Given the description of an element on the screen output the (x, y) to click on. 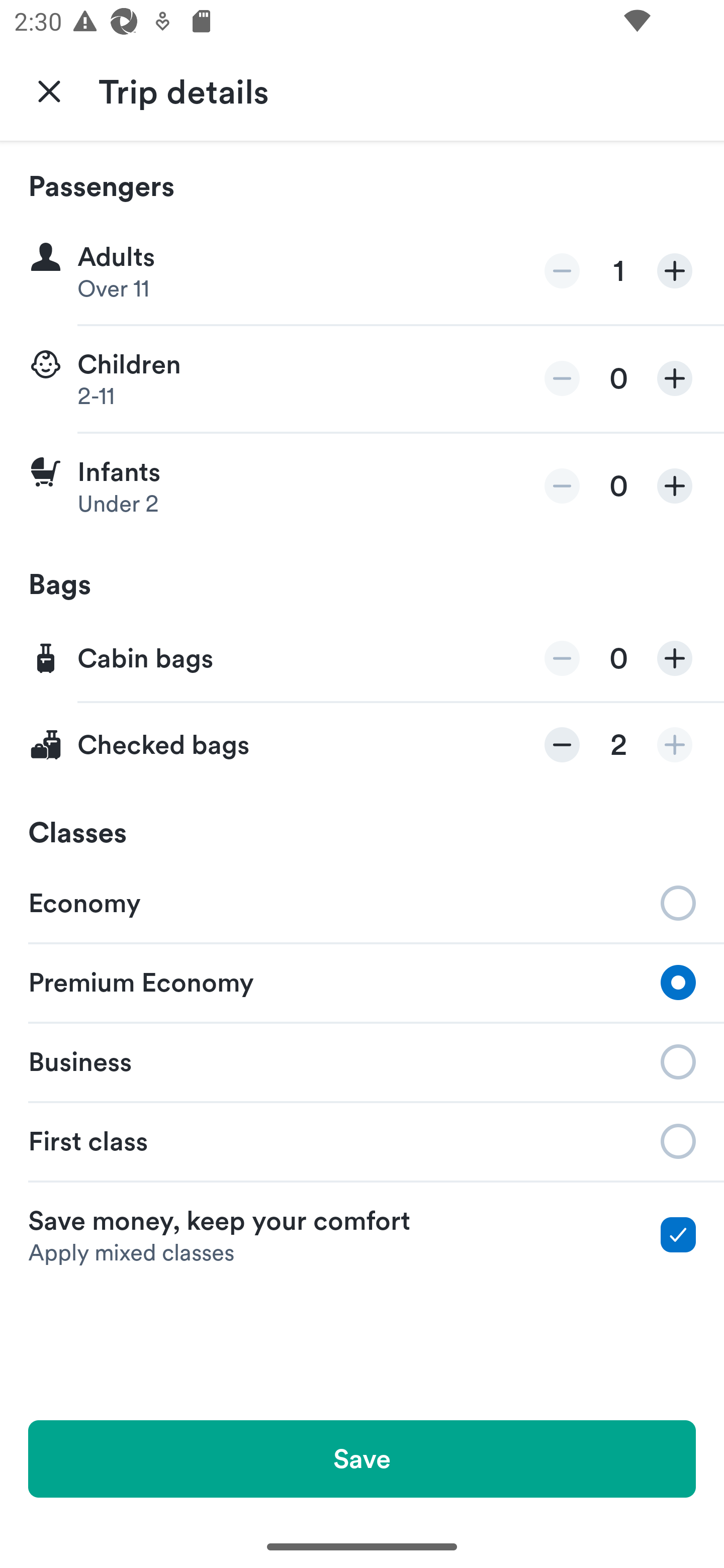
Navigate up (49, 90)
Remove 1 Add Adults Over 11 (362, 271)
Remove (561, 270)
Add (674, 270)
Remove 0 Add Children 2-11 (362, 379)
Remove (561, 377)
Add (674, 377)
Remove 0 Add Infants Under 2 (362, 485)
Remove (561, 485)
Add (674, 485)
Remove 0 Add Cabin bags (362, 659)
Remove (561, 658)
Add (674, 658)
Remove 2 Add Checked bags (362, 744)
Remove (561, 744)
Add (674, 744)
Economy (362, 901)
Business (362, 1060)
First class (362, 1141)
Save (361, 1458)
